Given the description of an element on the screen output the (x, y) to click on. 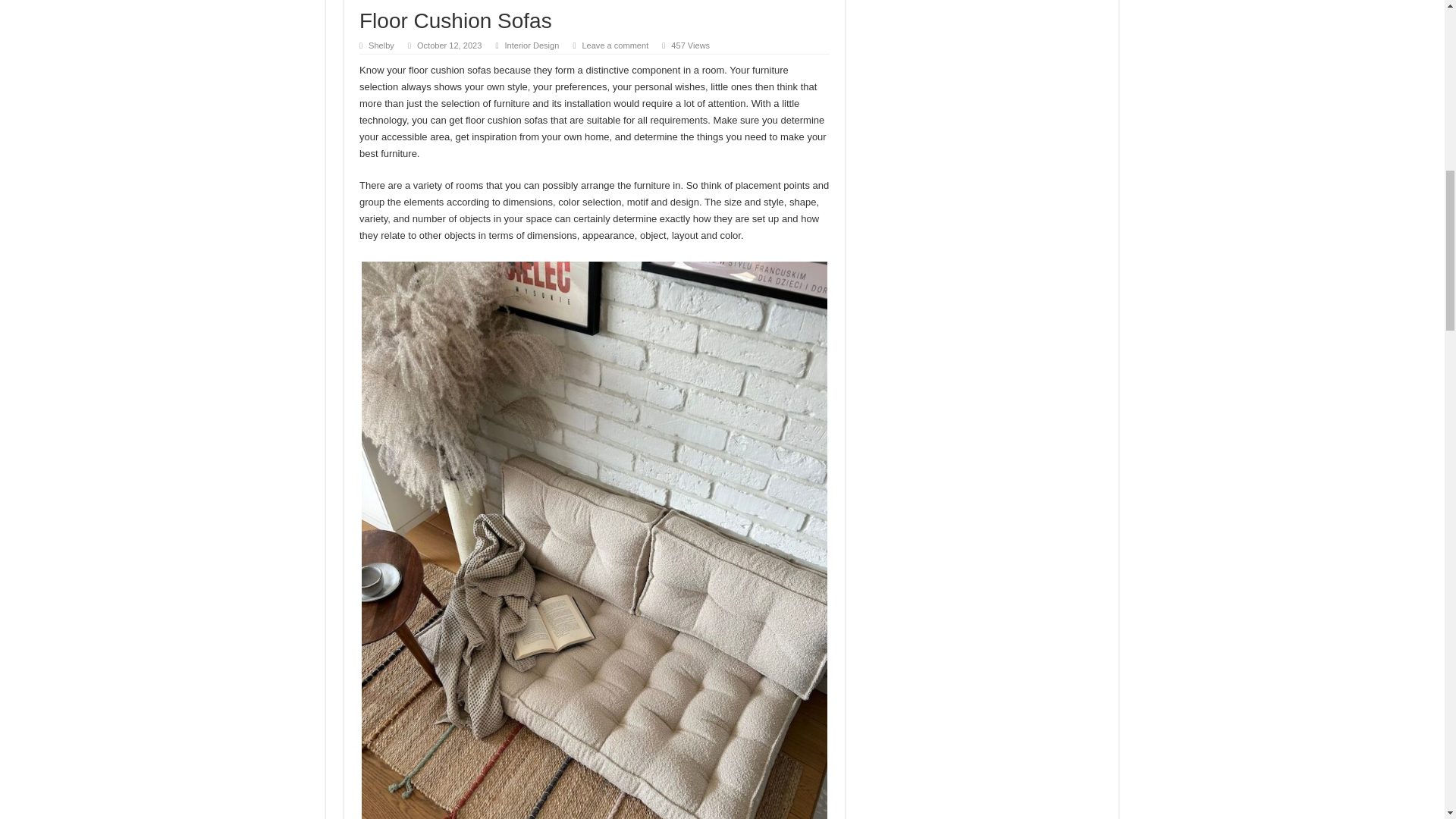
Shelby (381, 44)
